Given the description of an element on the screen output the (x, y) to click on. 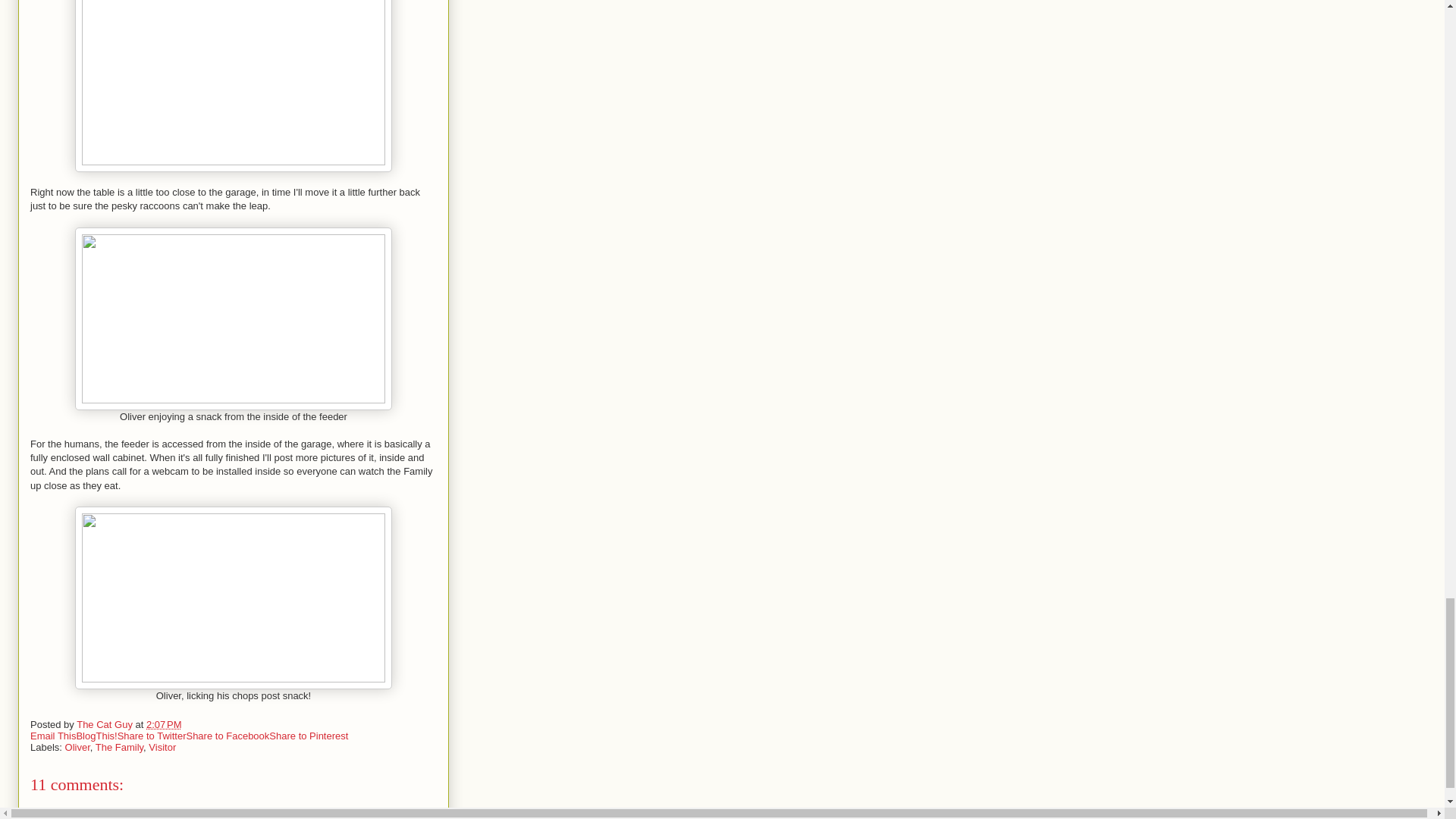
Share to Twitter (151, 736)
Share to Facebook (227, 736)
The Cat Guy (106, 724)
author profile (106, 724)
Email This (52, 736)
Share to Pinterest (308, 736)
Visitor (162, 747)
Oliver (77, 747)
Email This (52, 736)
Share to Facebook (227, 736)
The Family (119, 747)
Share to Twitter (151, 736)
Email Post (191, 724)
Share to Pinterest (308, 736)
